Given the description of an element on the screen output the (x, y) to click on. 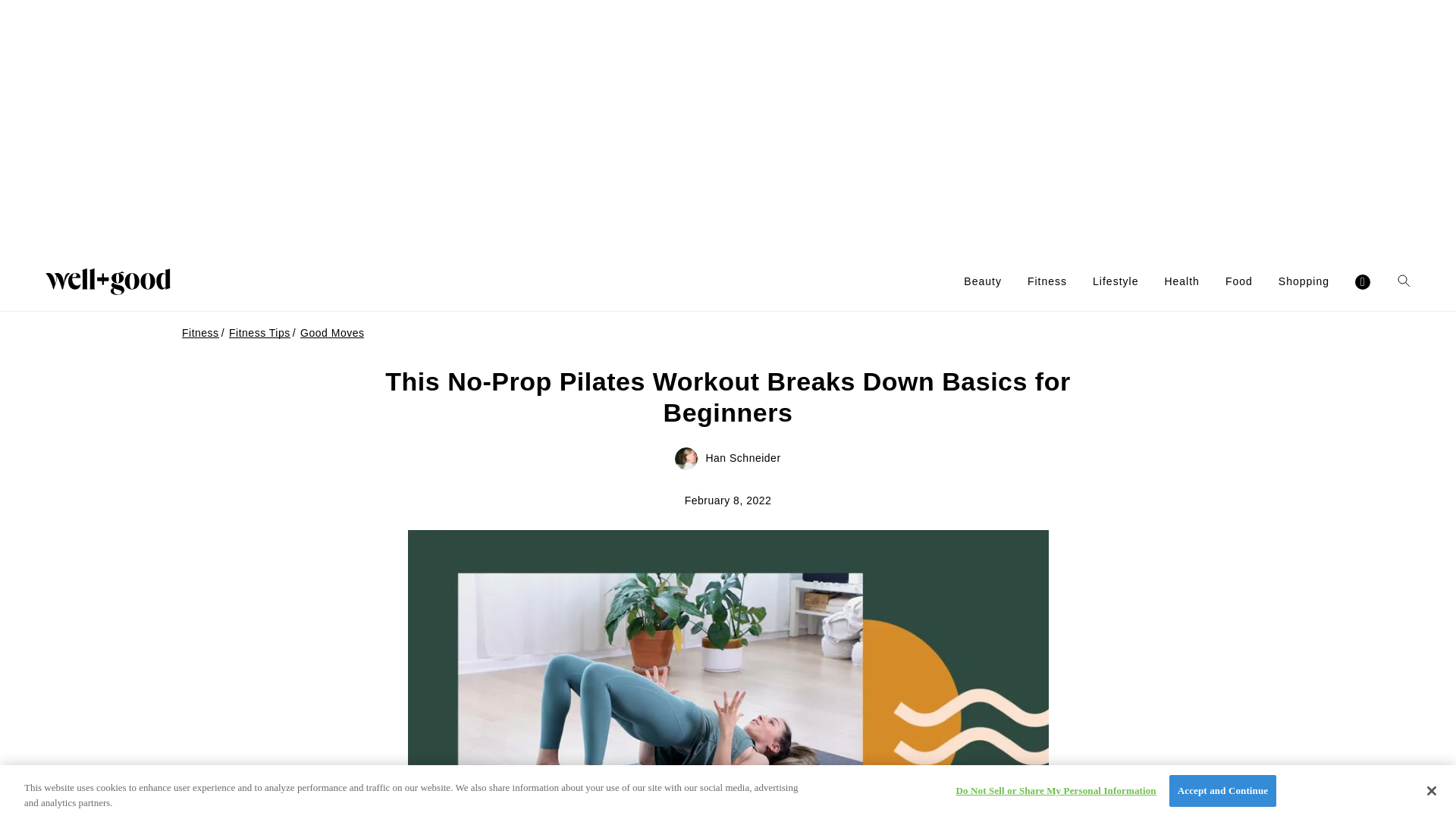
Food (1238, 281)
Shopping (1303, 281)
Beauty (982, 281)
Fitness (1047, 281)
Health (1180, 281)
3rd party ad content (727, 126)
Lifestyle (1115, 281)
